Given the description of an element on the screen output the (x, y) to click on. 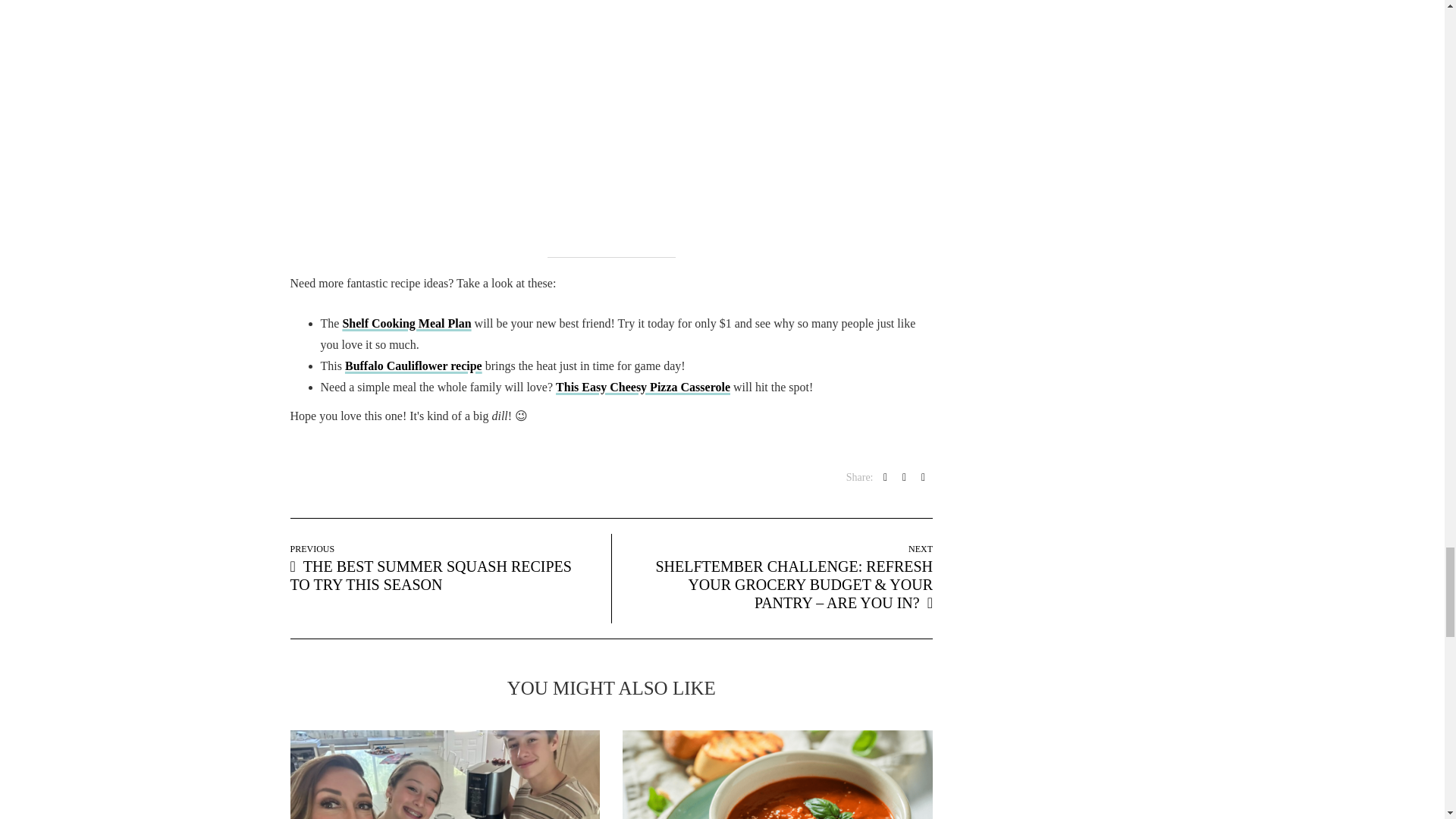
Pin this (923, 477)
Tweet this (904, 477)
Share with Facebook (885, 477)
